Given the description of an element on the screen output the (x, y) to click on. 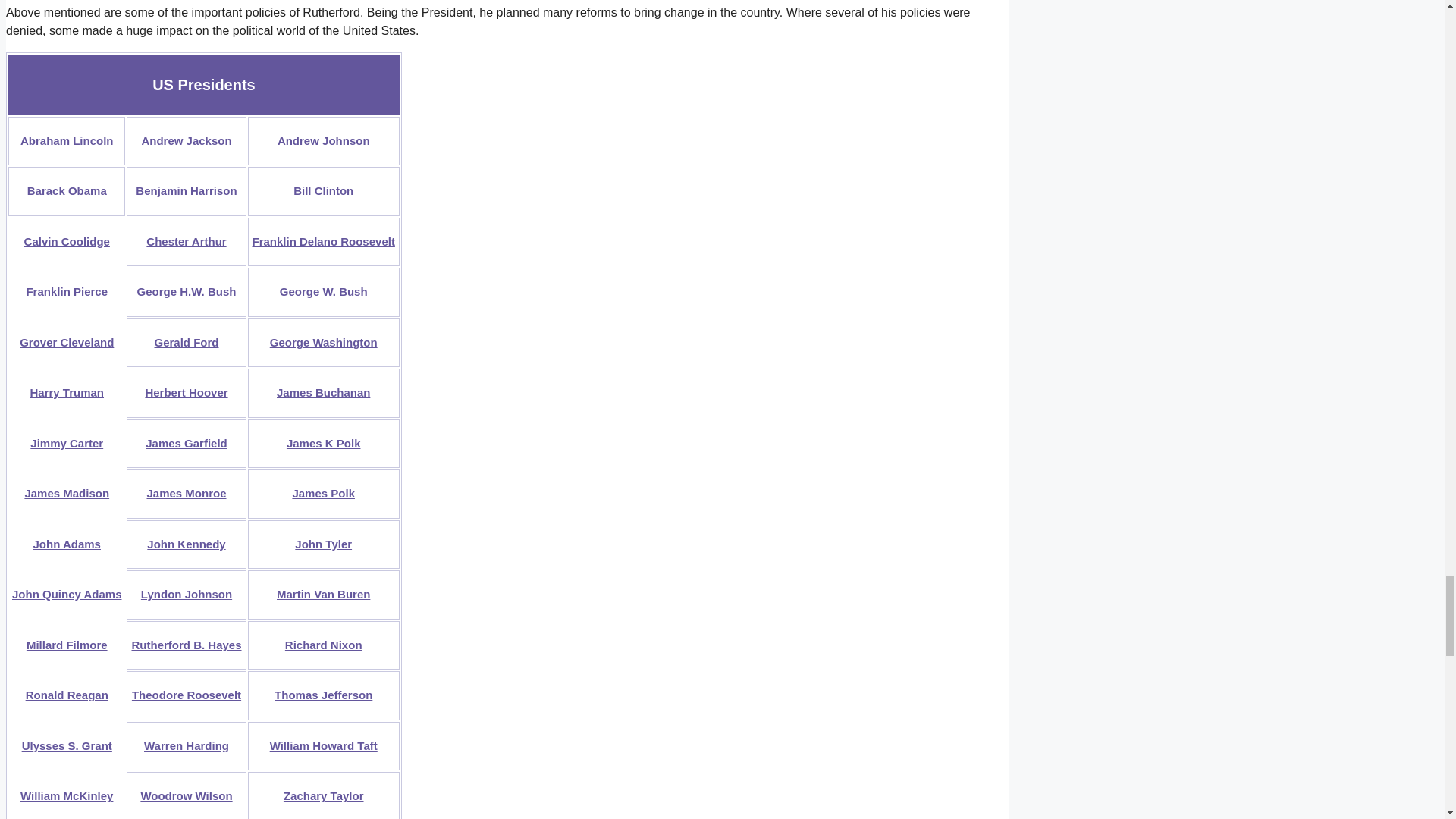
Andrew Jackson (186, 140)
Andrew Johnson (323, 140)
Barack Obama (66, 190)
Benjamin Harrison (185, 190)
Franklin Pierce (66, 291)
Abraham Lincoln (66, 140)
George H.W. Bush (185, 291)
Bill Clinton (323, 190)
Calvin Coolidge (67, 241)
Franklin Delano Roosevelt (322, 241)
Chester Arthur (186, 241)
George W. Bush (323, 291)
